Given the description of an element on the screen output the (x, y) to click on. 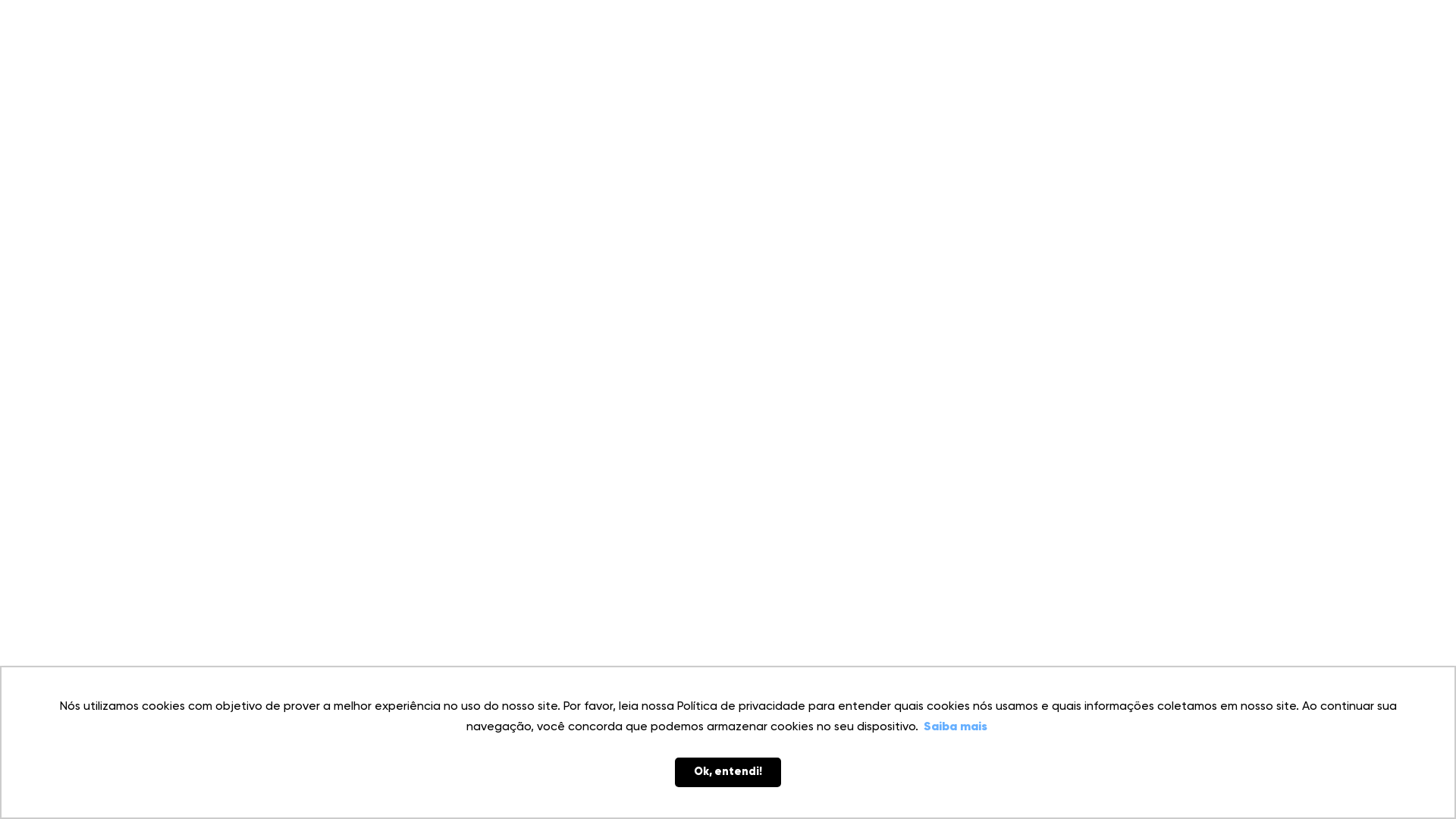
Saiba mais Element type: text (955, 726)
Ok, entendi! Element type: text (727, 771)
